Given the description of an element on the screen output the (x, y) to click on. 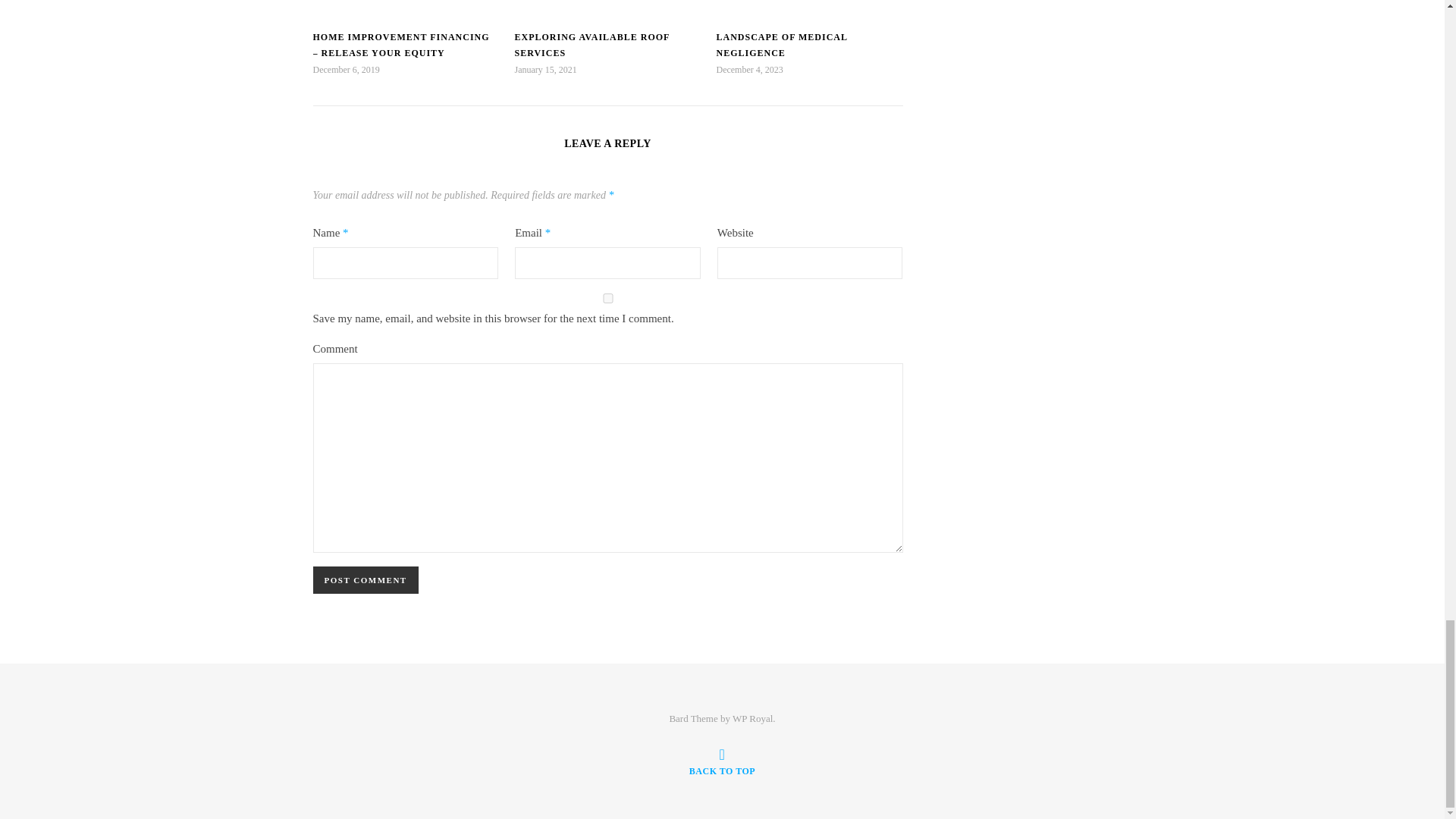
yes (607, 298)
Post Comment (365, 579)
BACK TO TOP (722, 761)
